Given the description of an element on the screen output the (x, y) to click on. 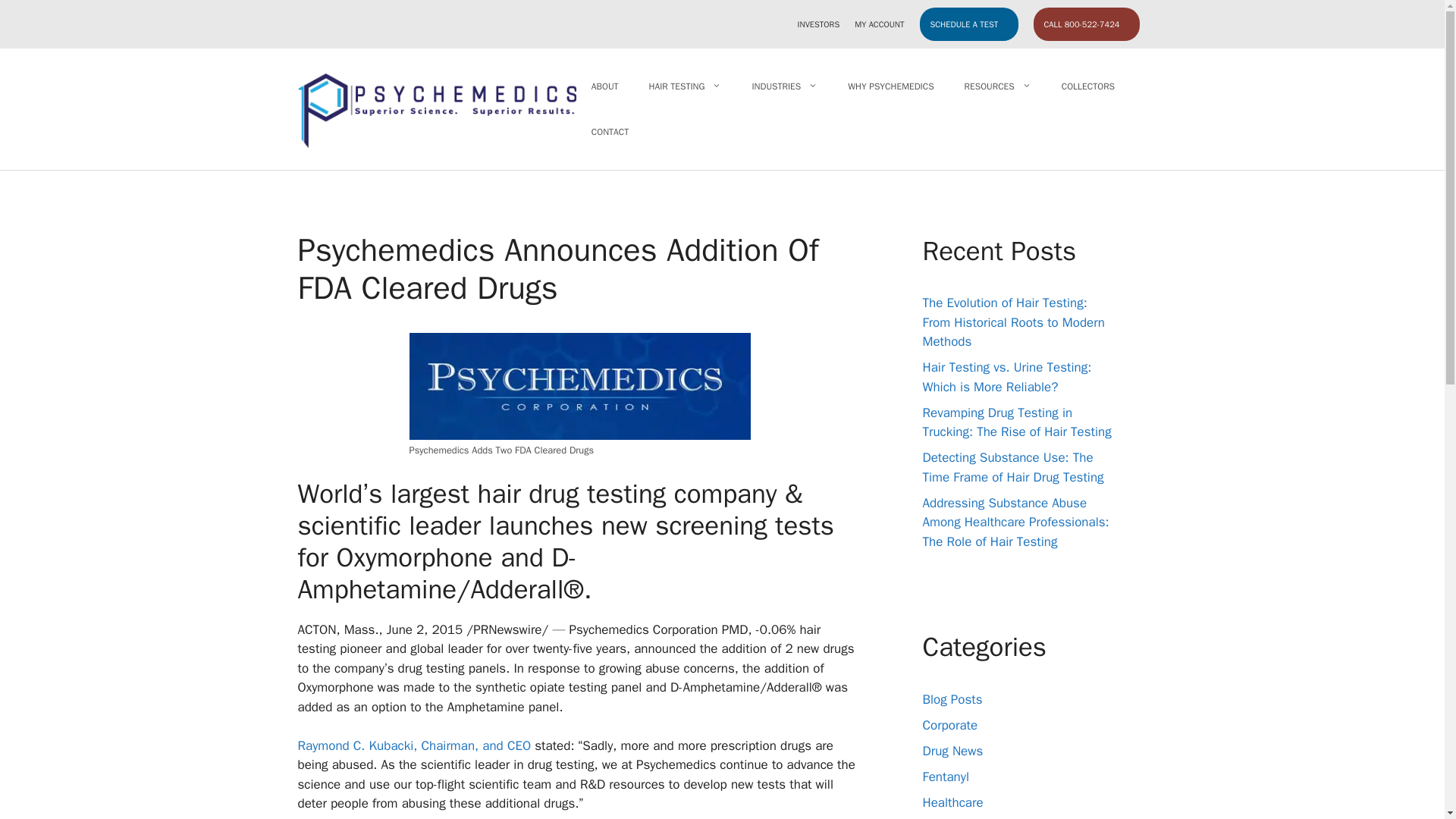
RESOURCES (997, 85)
HAIR TESTING (684, 85)
INVESTORS (818, 24)
SCHEDULE A TEST (967, 23)
ABOUT (604, 85)
CALL 800-522-7424 (1085, 23)
MY ACCOUNT (879, 23)
INDUSTRIES (784, 85)
WHY PSYCHEMEDICS (890, 85)
